Given the description of an element on the screen output the (x, y) to click on. 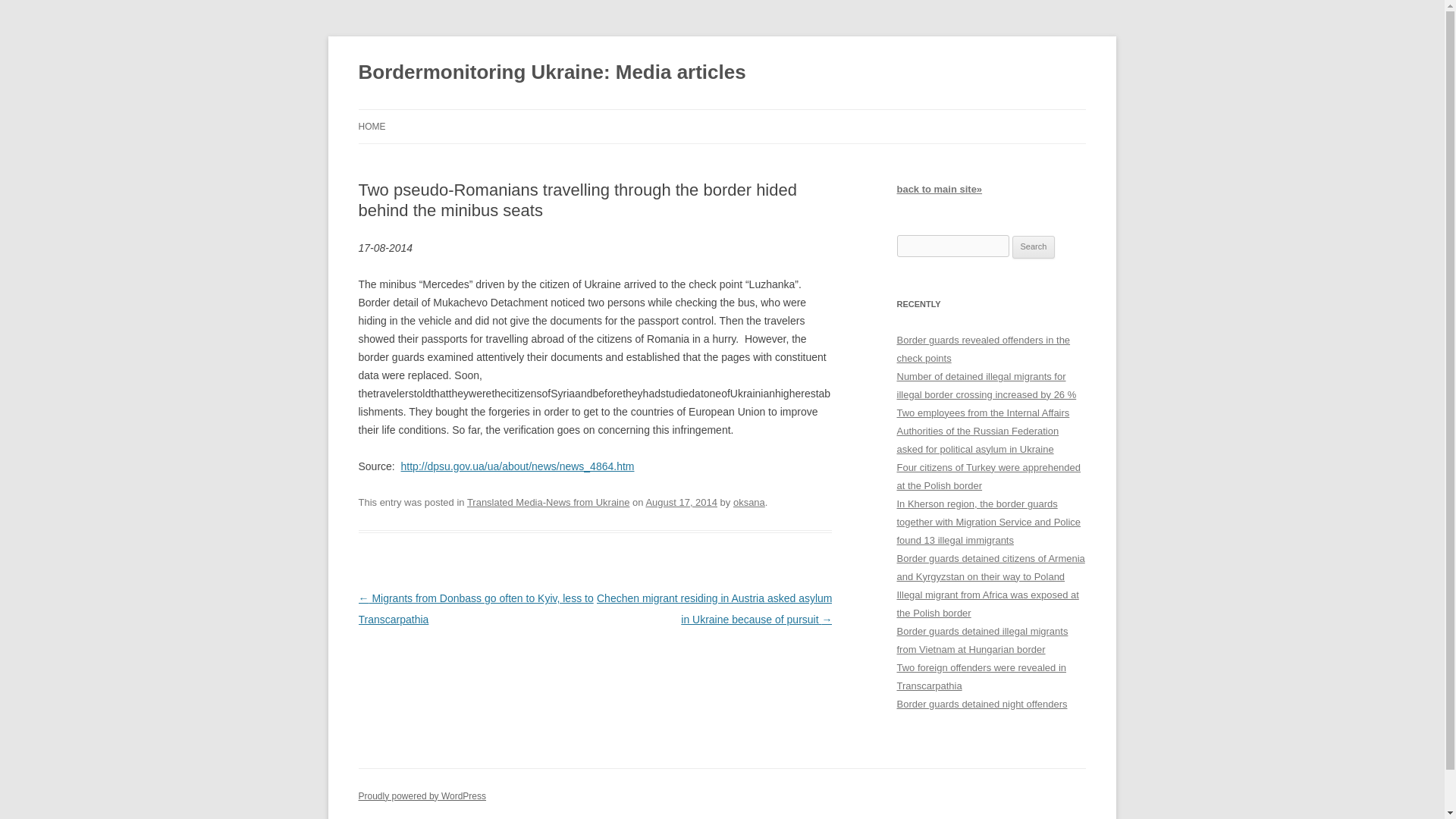
Search (1033, 246)
Border guards revealed offenders in the check points (983, 348)
View all posts by oksana (749, 501)
Search (1033, 246)
Two foreign offenders were revealed in Transcarpathia (980, 676)
Border guards detained night offenders (981, 704)
Bordermonitoring Ukraine: Media articles (551, 72)
Illegal migrant from Africa was exposed at the Polish border (987, 603)
oksana (749, 501)
August 17, 2014 (681, 501)
